Given the description of an element on the screen output the (x, y) to click on. 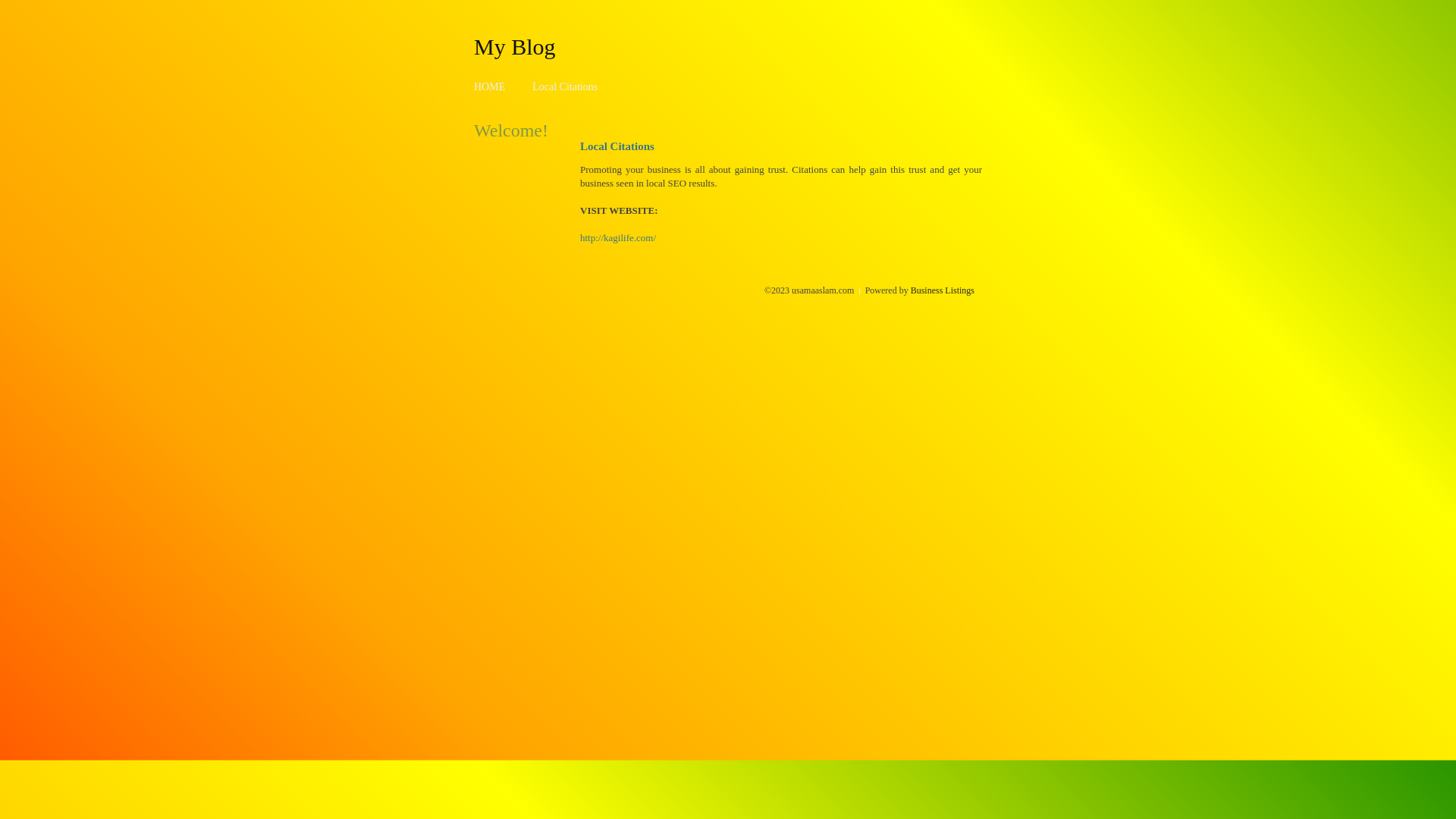
My Blog Element type: text (514, 46)
Local Citations Element type: text (564, 86)
HOME Element type: text (489, 86)
http://kagilife.com/ Element type: text (617, 237)
Business Listings Element type: text (942, 290)
